Given the description of an element on the screen output the (x, y) to click on. 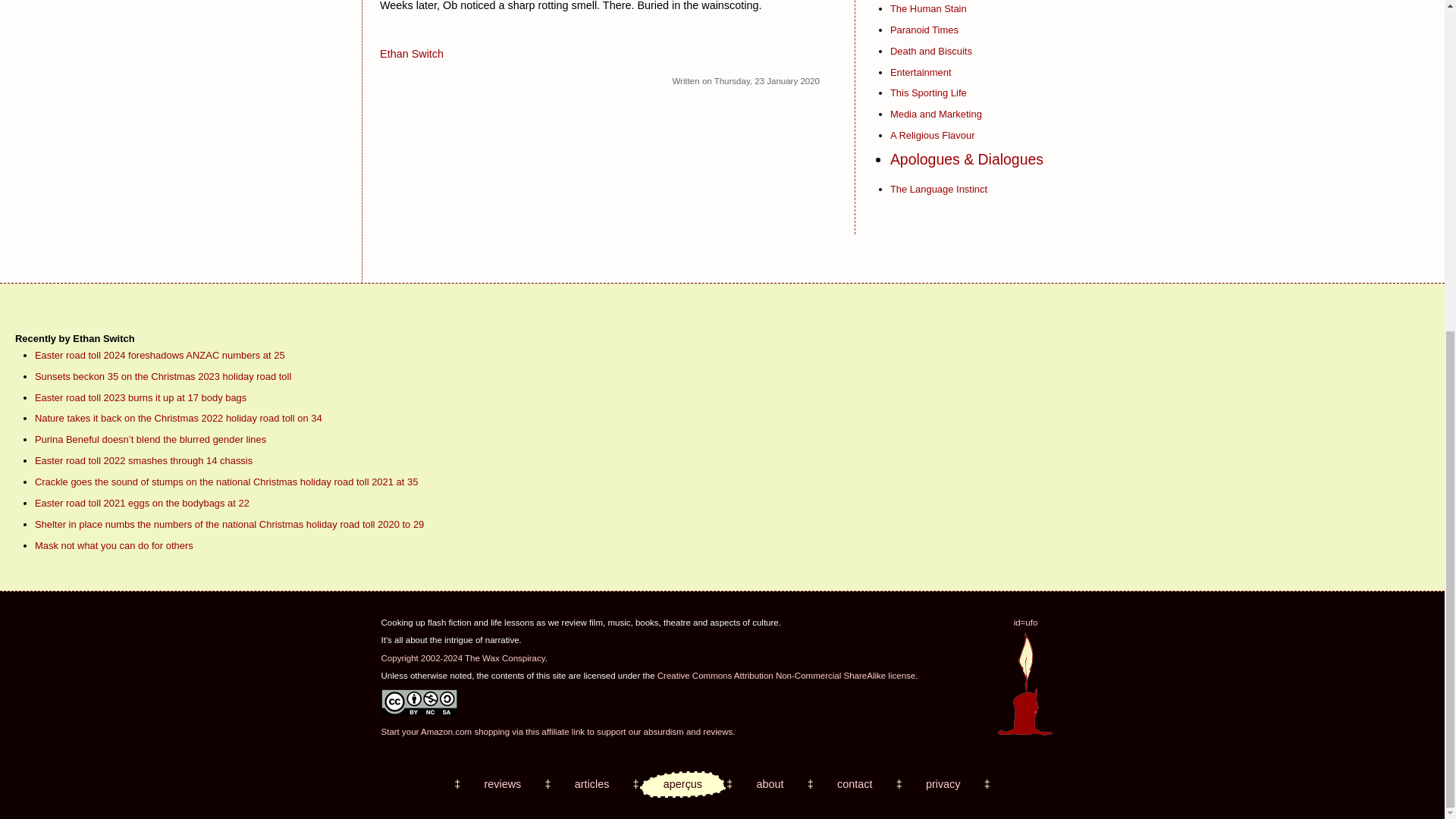
privacy (942, 784)
Easter road toll 2023 burns it up at 17 body bags (140, 397)
Media and Marketing (935, 113)
Copyright 2002-2024 (421, 657)
Mask not what you can do for others (113, 545)
The Language Instinct (938, 188)
Easter road toll 2021 eggs on the bodybags at 22 (141, 502)
snapshots and pot rots (682, 783)
reviews (502, 784)
